Given the description of an element on the screen output the (x, y) to click on. 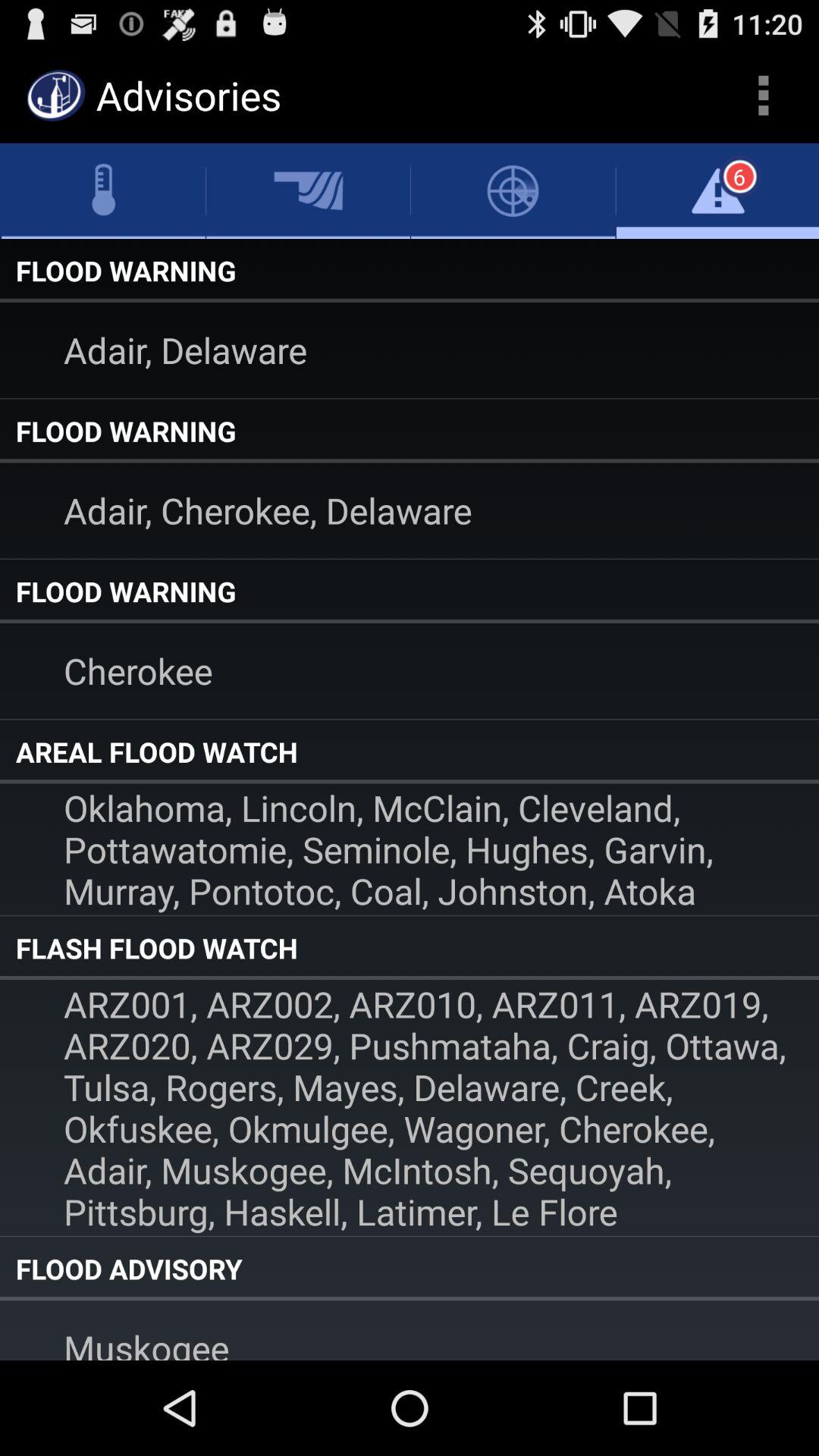
open the flood advisory item (409, 1268)
